Given the description of an element on the screen output the (x, y) to click on. 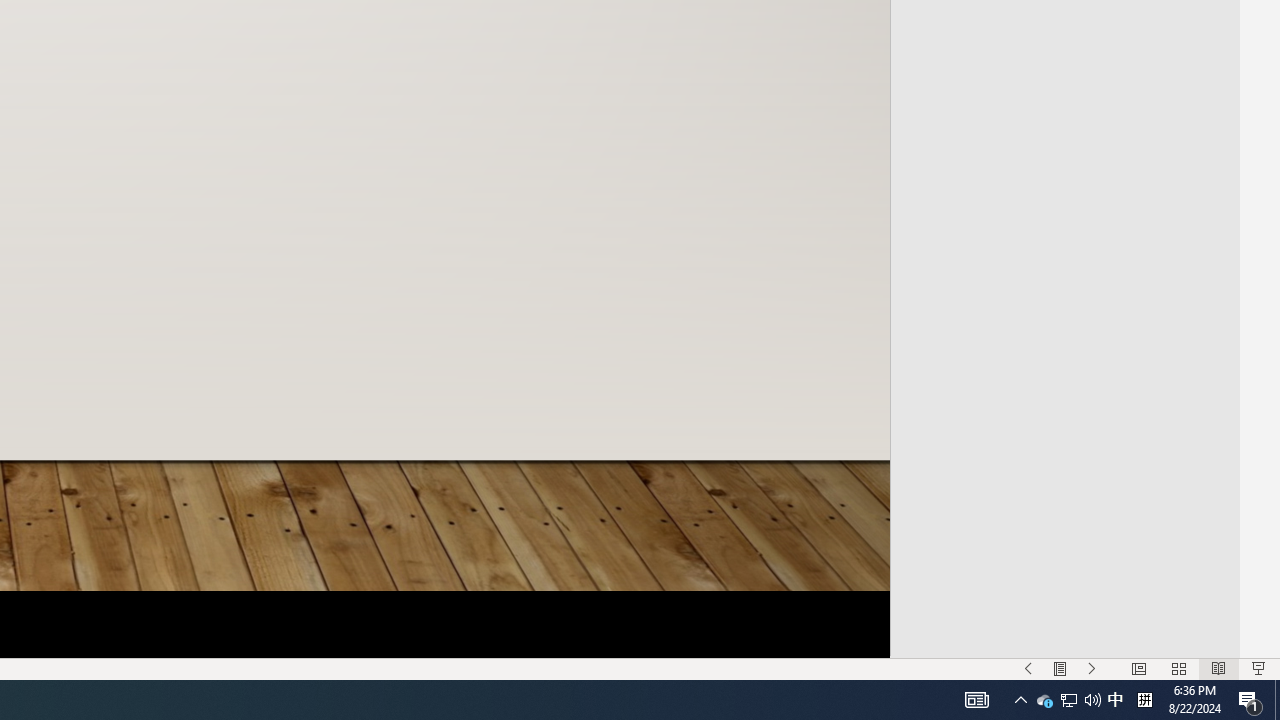
Menu On (1060, 668)
Slide Show Previous On (1028, 668)
Slide Show Next On (1092, 668)
